Given the description of an element on the screen output the (x, y) to click on. 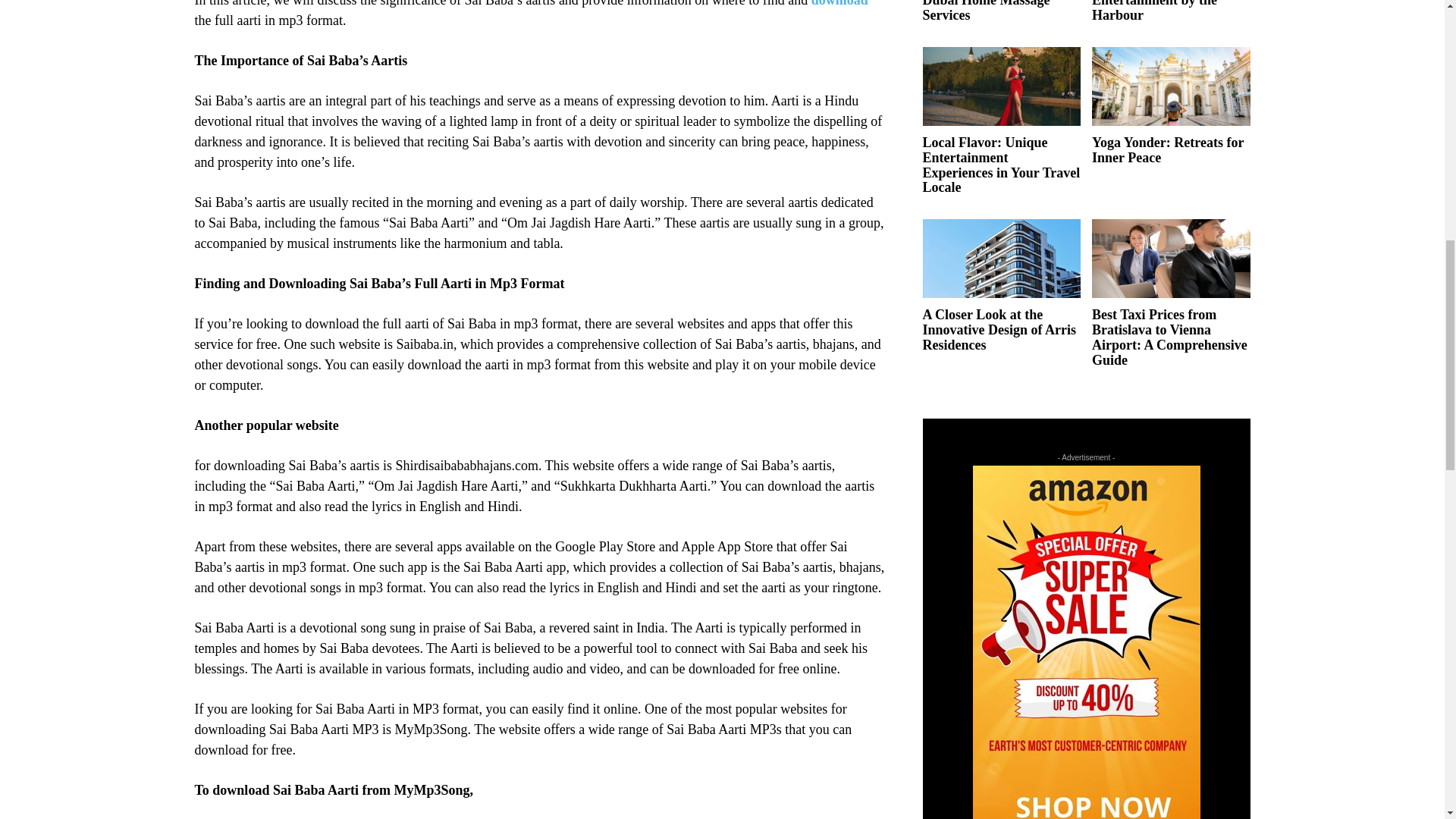
download (838, 3)
Sydney Serenity: Enjoying Entertainment by the Harbour (1169, 11)
Why You Should Try Dubai Home Massage Services (985, 11)
